Given the description of an element on the screen output the (x, y) to click on. 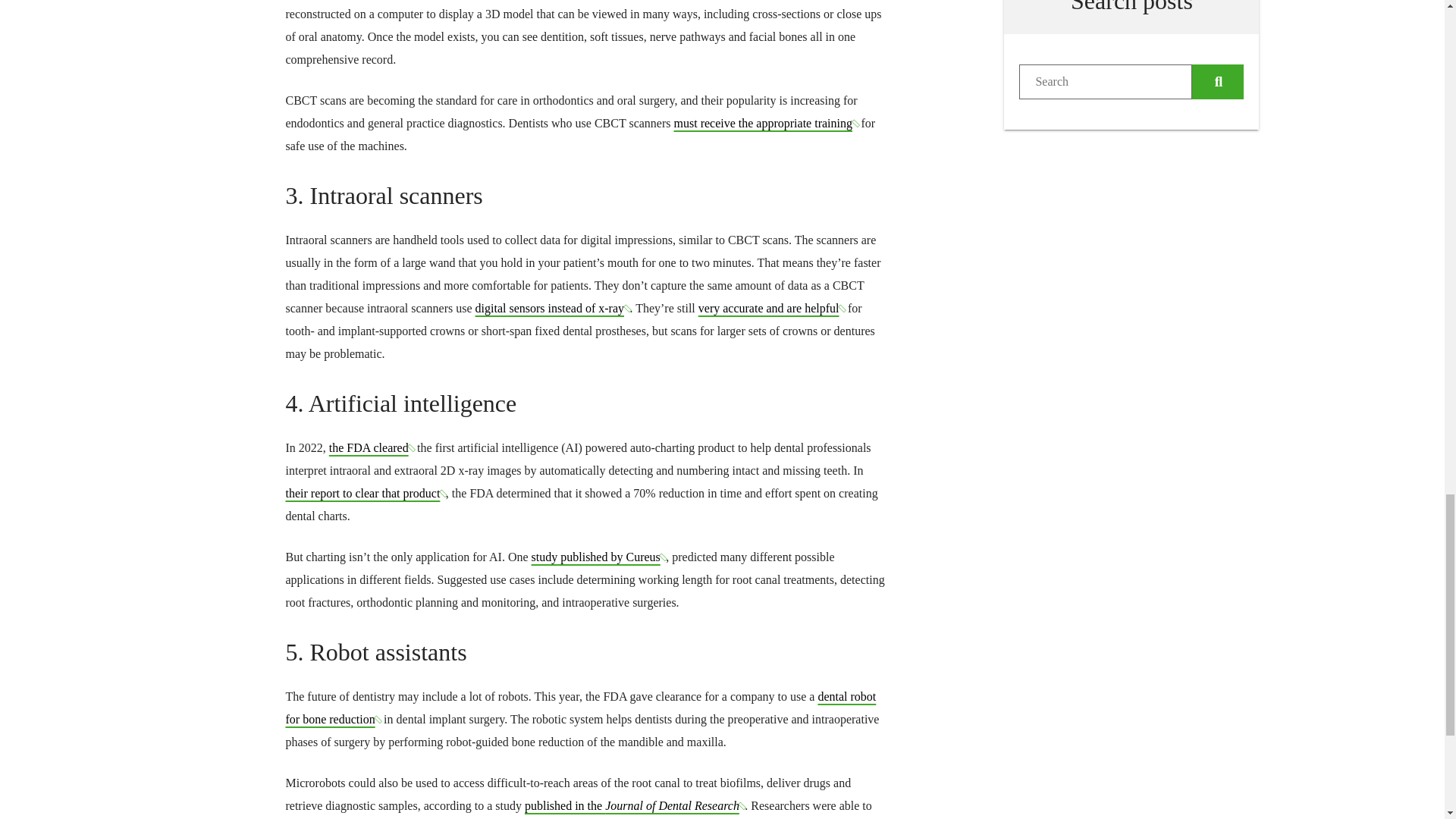
digital sensors instead of x-ray (553, 308)
Opens external link in new window (766, 123)
published in the Journal of Dental Research (634, 805)
Opens external link in new window (634, 805)
the FDA cleared (371, 447)
Opens external link in new window (365, 492)
Opens external link in new window (580, 707)
their report to clear that product (365, 492)
Opens external link in new window (371, 447)
Opens external link in new window (553, 308)
